Given the description of an element on the screen output the (x, y) to click on. 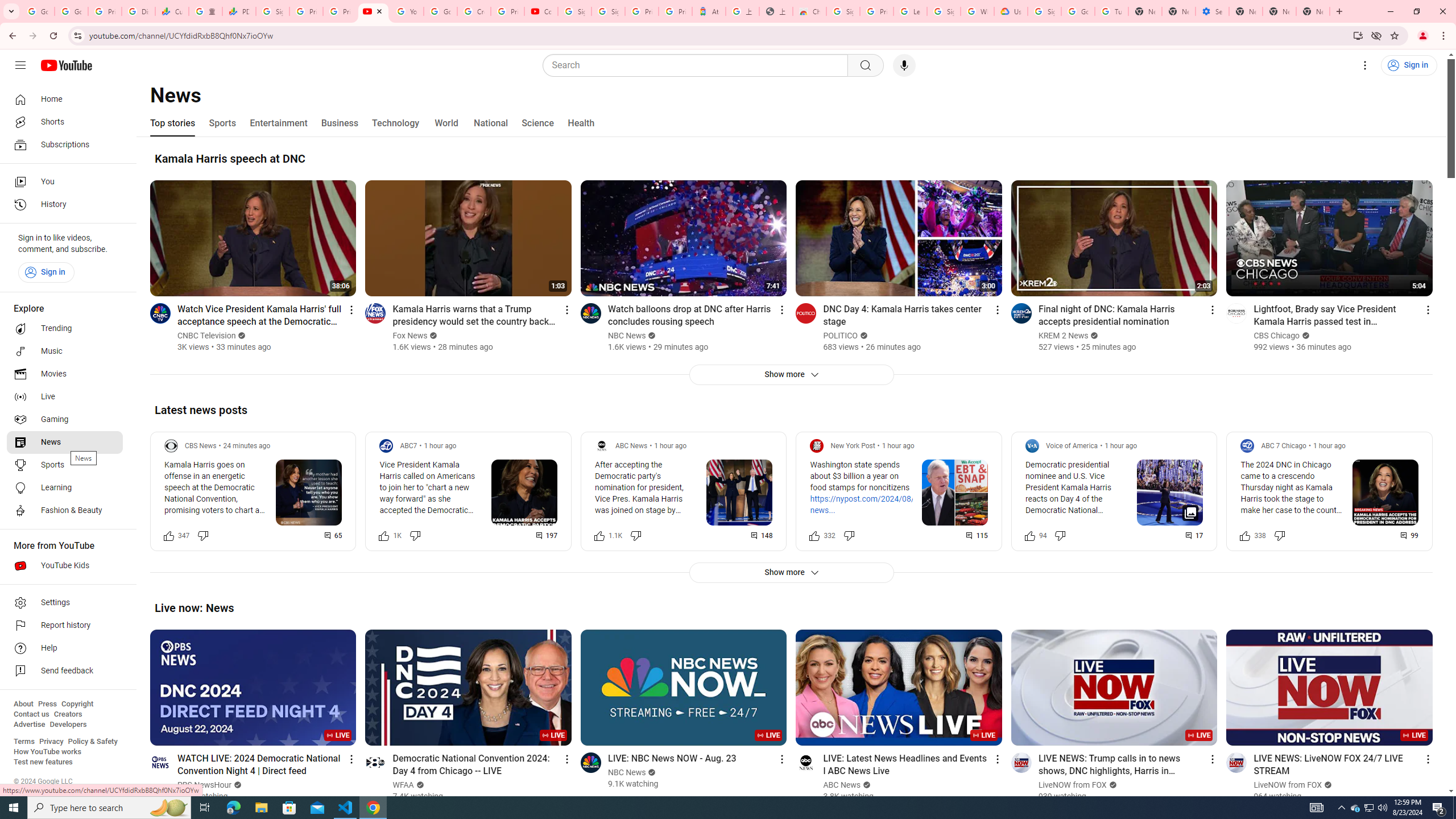
Search (697, 65)
Like this post along with 332 other people (814, 534)
YouTube (372, 11)
World (446, 122)
Business (339, 122)
Search with your voice (903, 65)
Trending (64, 328)
Creators (67, 714)
Home (64, 99)
Copyright (77, 703)
